Given the description of an element on the screen output the (x, y) to click on. 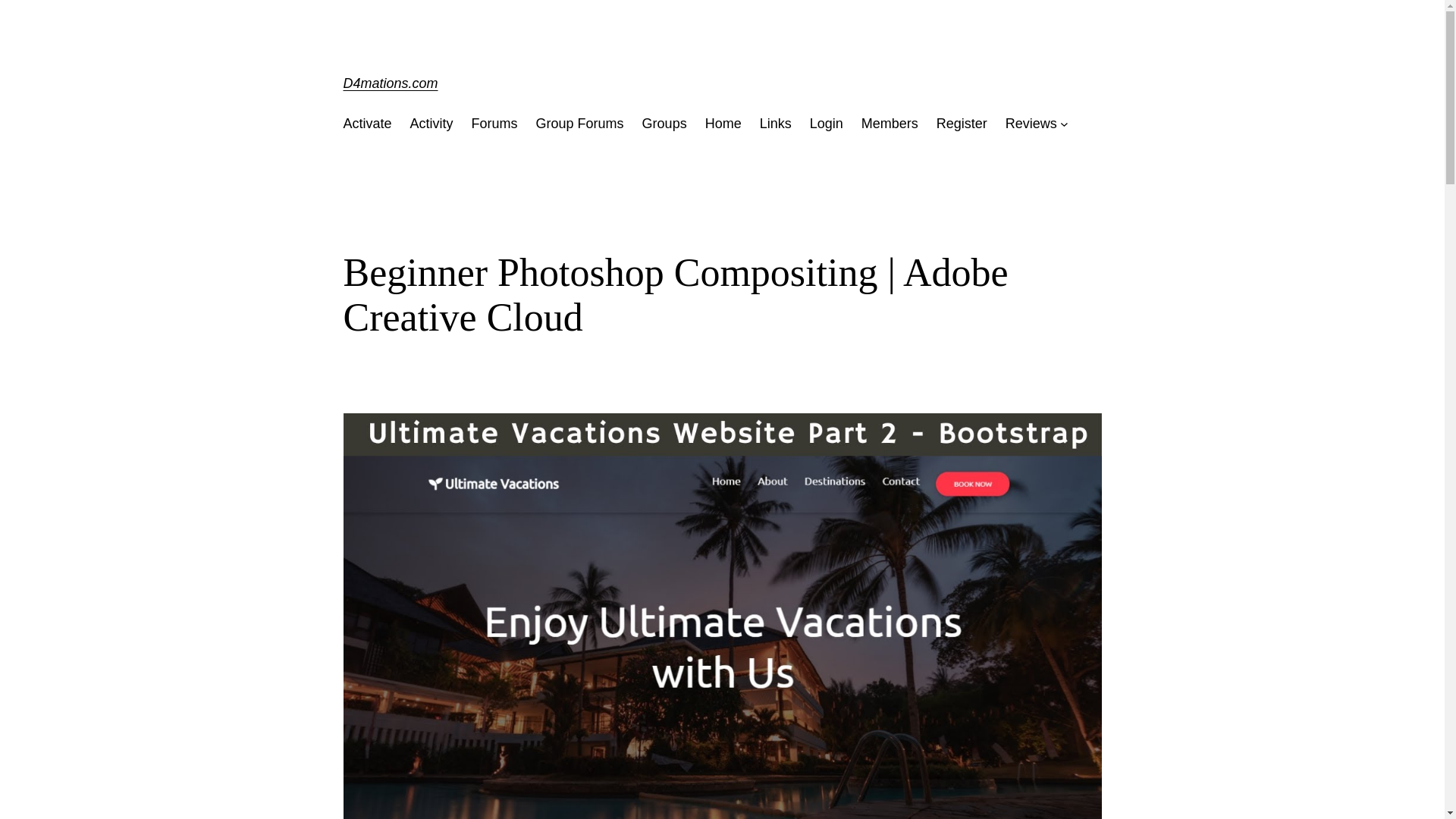
Groups (664, 124)
Members (889, 124)
Group Forums (579, 124)
Reviews (1031, 124)
Register (961, 124)
Login (826, 124)
Home (722, 124)
Activate (366, 124)
D4mations.com (390, 83)
Activity (431, 124)
Links (776, 124)
Forums (494, 124)
